Given the description of an element on the screen output the (x, y) to click on. 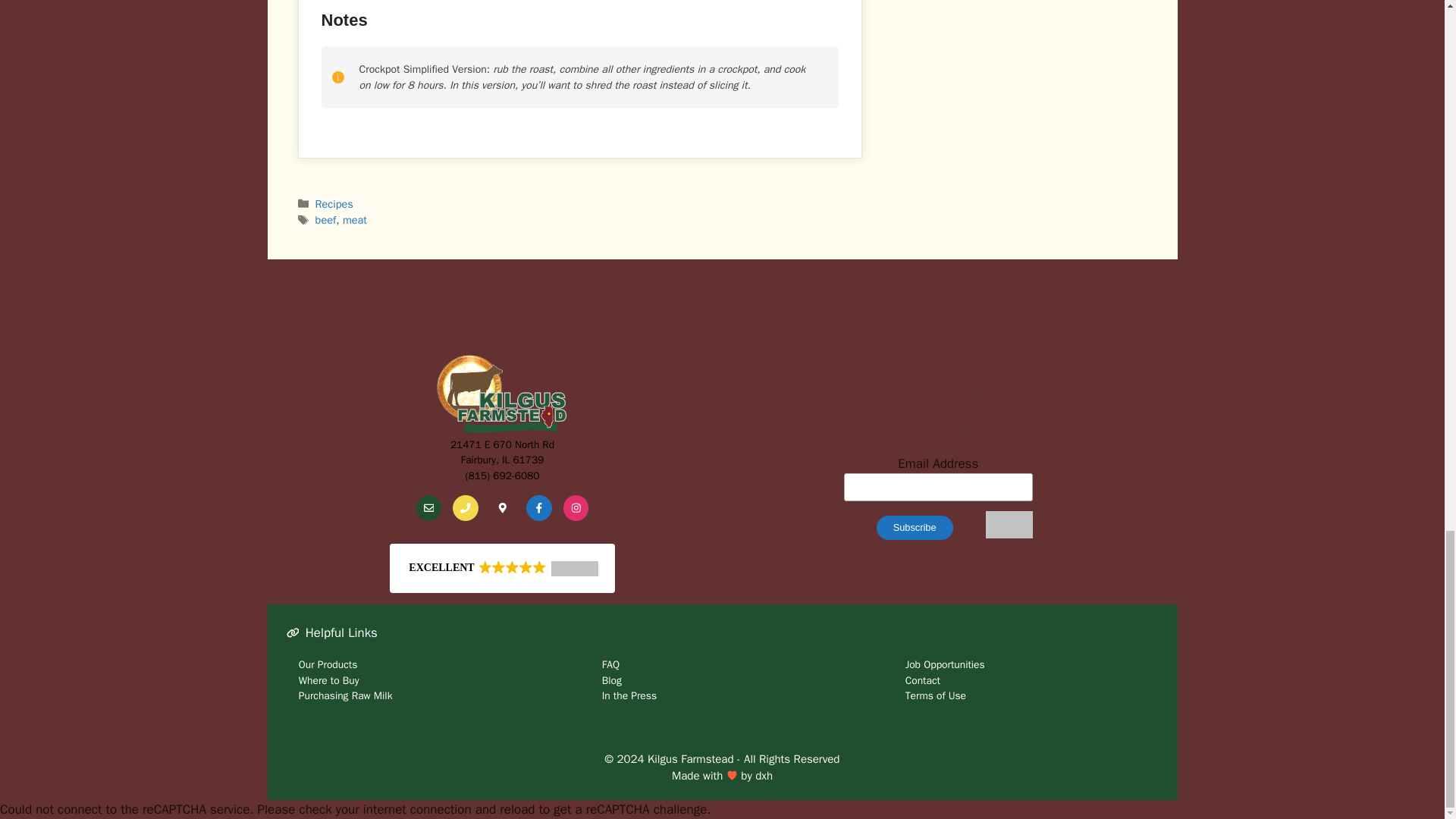
Mailchimp - email marketing made easy and fun (1008, 535)
Subscribe (914, 527)
